Given the description of an element on the screen output the (x, y) to click on. 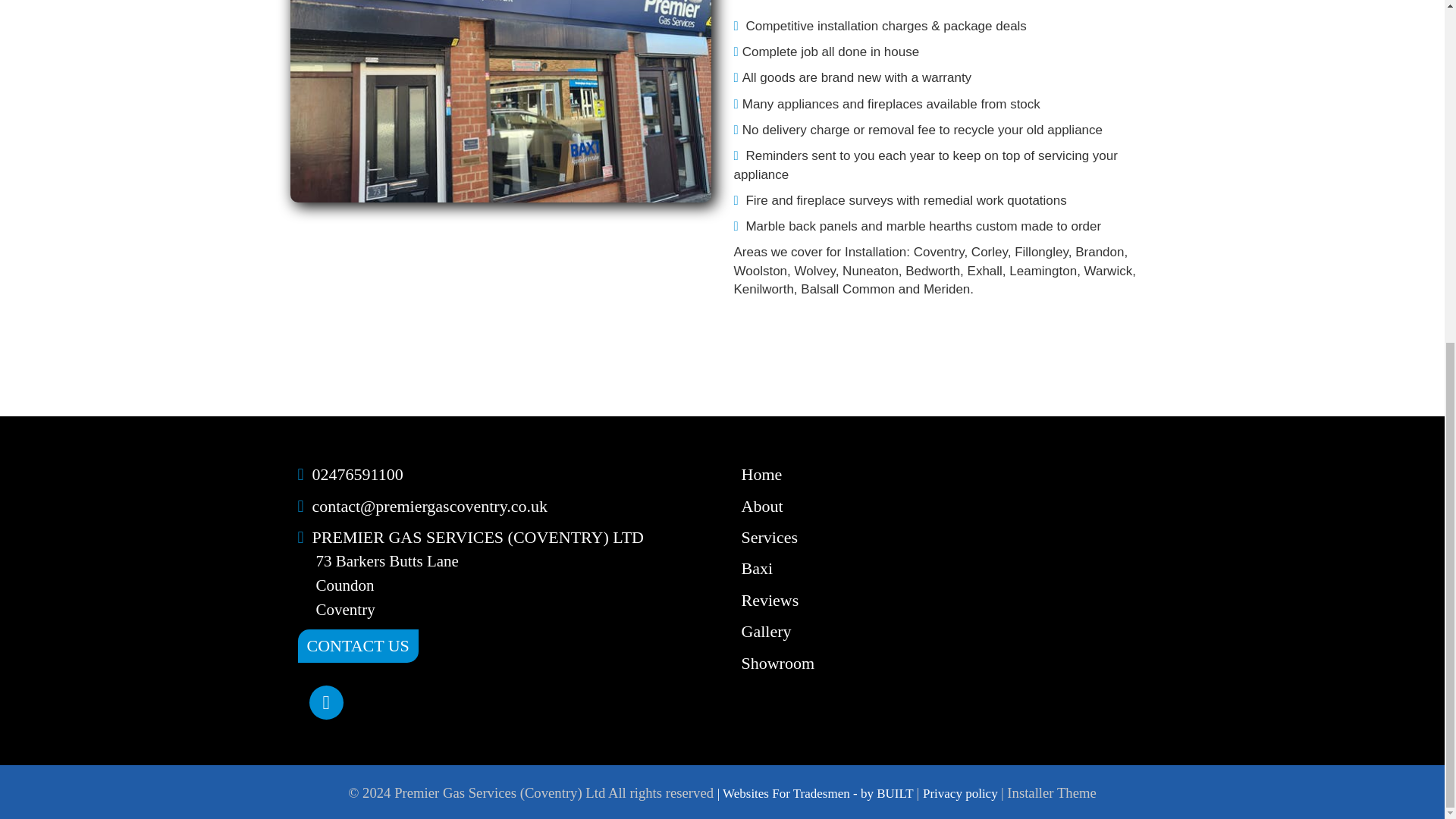
Baxi (757, 568)
Gallery (766, 630)
Services (769, 537)
About (762, 505)
Home (762, 474)
Privacy policy (962, 793)
Showroom (778, 662)
Reviews (770, 599)
02476591100 (358, 474)
CONTACT US (357, 645)
